Given the description of an element on the screen output the (x, y) to click on. 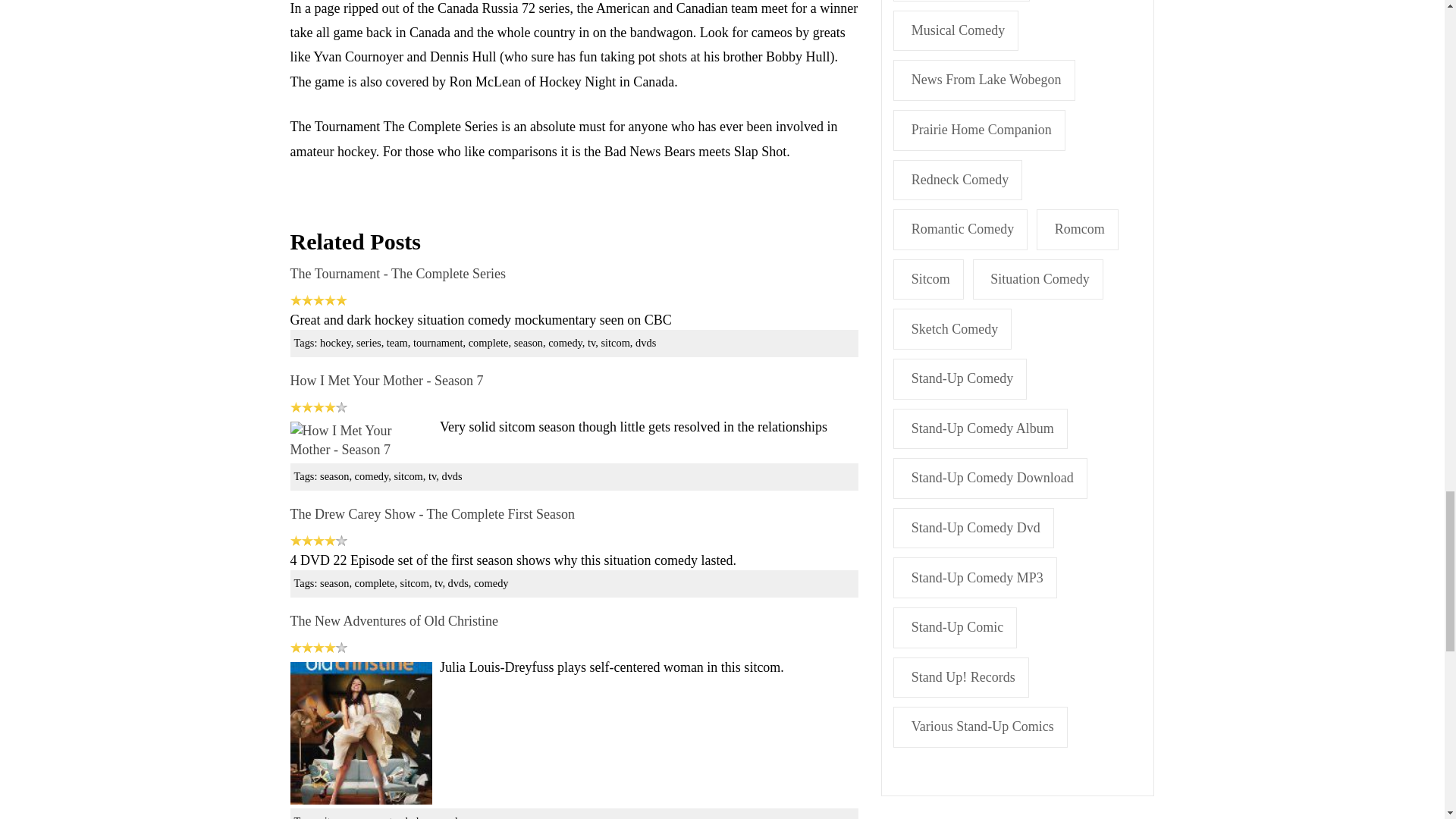
The Tournament - The Complete Series (397, 273)
The New Adventures of Old Christine (393, 620)
How I Met Your Mother - Season 7 (386, 380)
The Drew Carey Show - The Complete First Season (432, 513)
The Drew Carey Show - The Complete First Season (432, 513)
How I Met Your Mother - Season 7 (386, 380)
The Tournament - The Complete Series (397, 273)
How I Met Your Mother - Season 7 (359, 440)
The New Adventures of Old Christine (359, 732)
The New Adventures of Old Christine (393, 620)
